Given the description of an element on the screen output the (x, y) to click on. 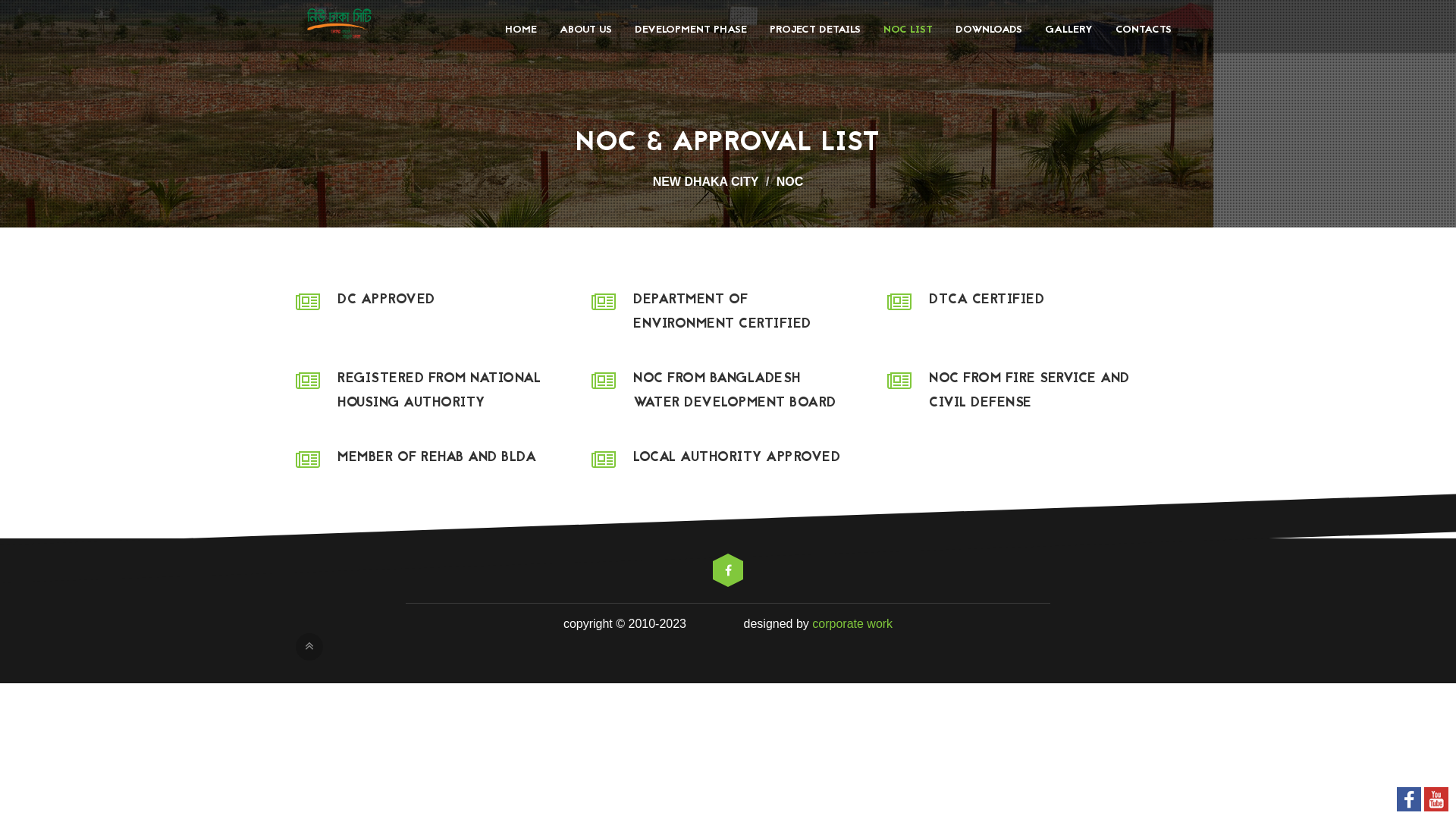
Back to Top Element type: hover (309, 646)
DOWNLOADS Element type: text (988, 29)
ABOUT US Element type: text (585, 29)
PROJECT DETAILS Element type: text (815, 29)
NOC LIST Element type: text (908, 29)
corporate work Element type: text (852, 623)
DEVELOPMENT PHASE Element type: text (690, 29)
Facebook Element type: hover (727, 570)
HOME Element type: text (520, 29)
GALLERY Element type: text (1068, 29)
CONTACTS Element type: text (1137, 29)
